Given the description of an element on the screen output the (x, y) to click on. 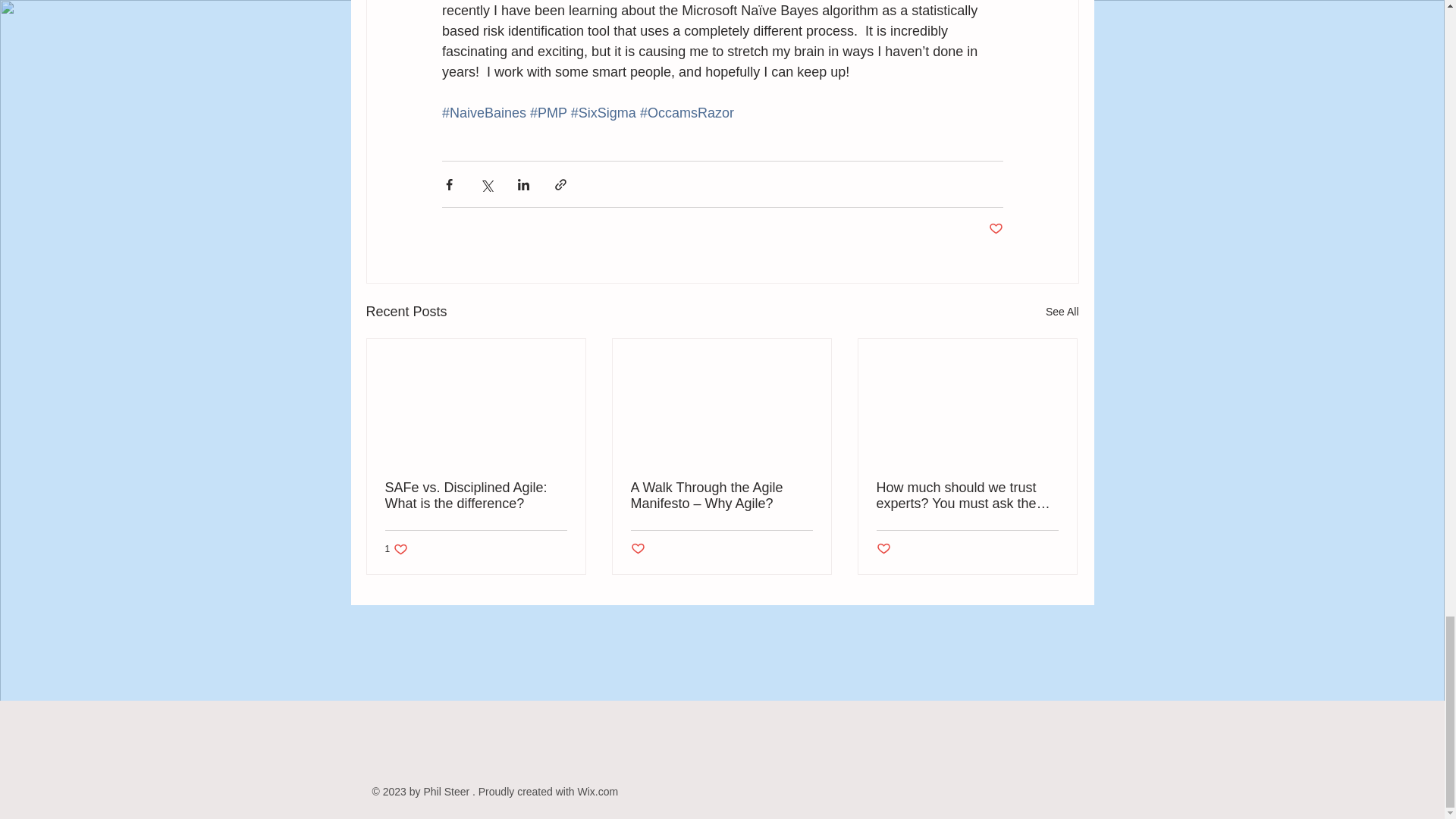
SAFe vs. Disciplined Agile: What is the difference? (476, 495)
Post not marked as liked (883, 549)
Post not marked as liked (995, 229)
Post not marked as liked (637, 549)
See All (397, 549)
Wix.com (1061, 311)
